Given the description of an element on the screen output the (x, y) to click on. 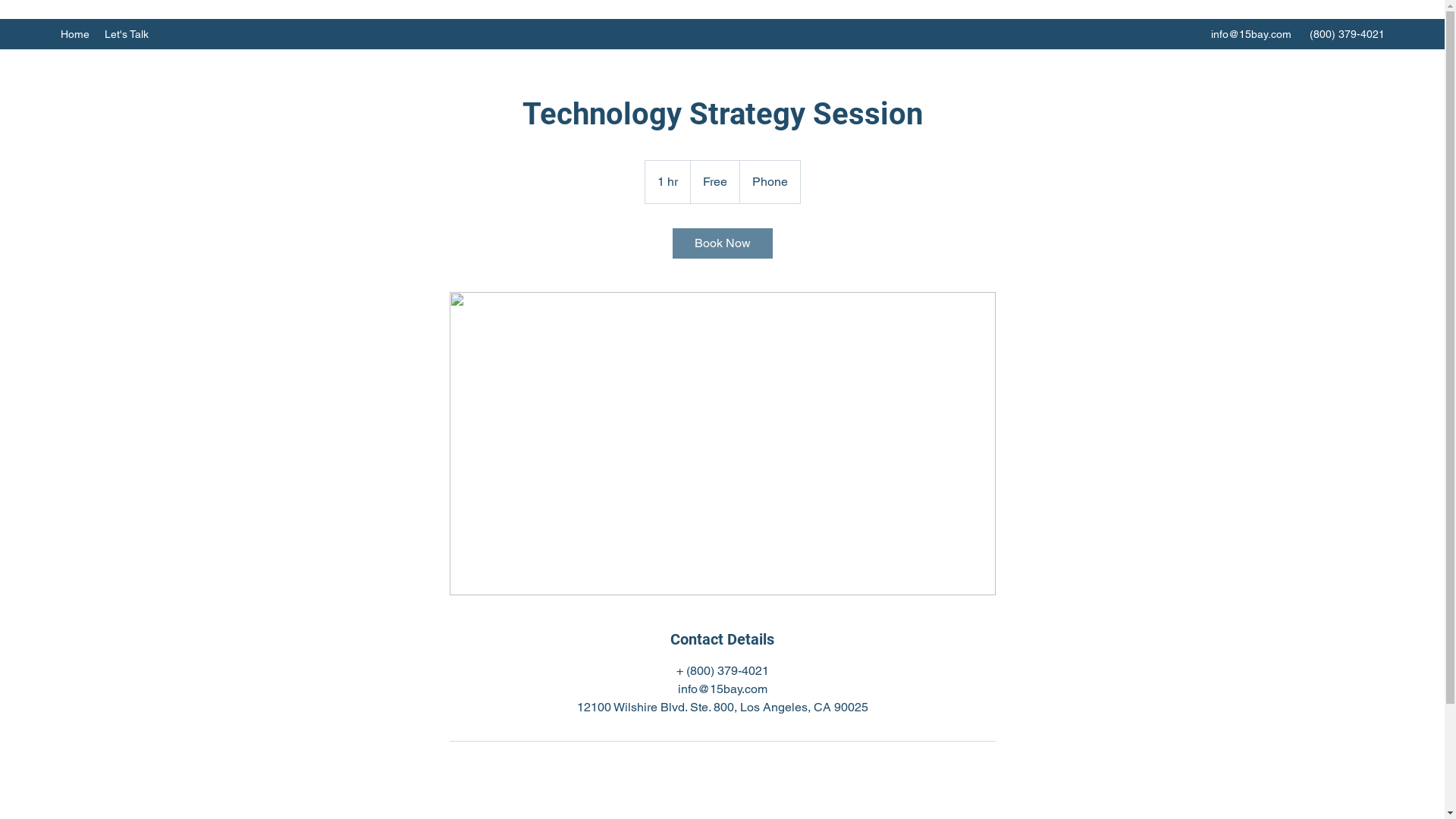
Book Now Element type: text (721, 243)
info@15bay.com Element type: text (1251, 34)
Home Element type: text (75, 33)
Let's Talk Element type: text (126, 33)
